Given the description of an element on the screen output the (x, y) to click on. 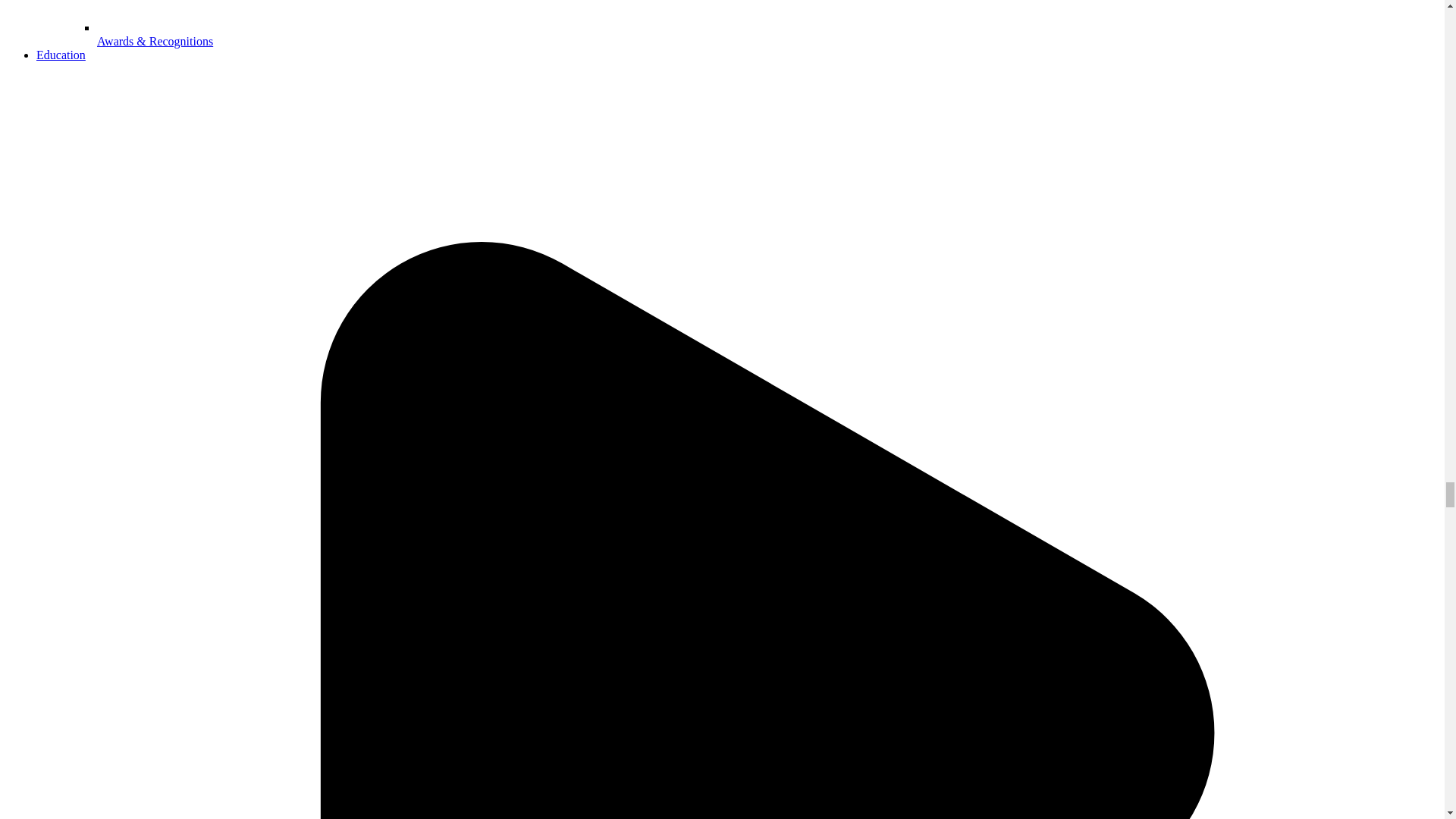
Education (60, 54)
